Given the description of an element on the screen output the (x, y) to click on. 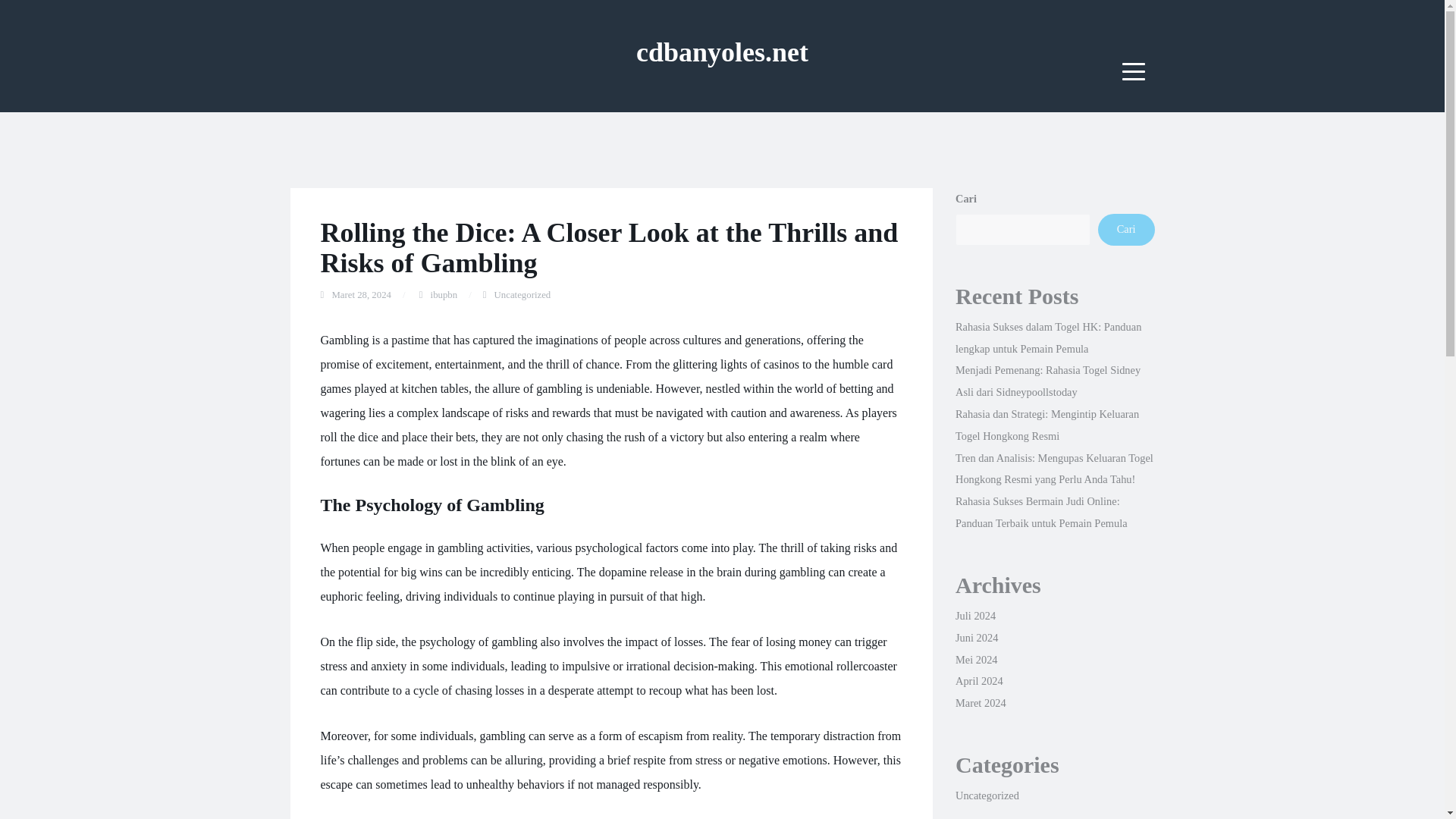
cdbanyoles.net (722, 51)
Maret 28, 2024 (361, 294)
Juni 2024 (976, 637)
April 2024 (979, 680)
Mei 2024 (976, 659)
Uncategorized (987, 795)
Menu (1133, 71)
ibupbn (444, 294)
Maret 2024 (980, 702)
Cari (1125, 229)
Juli 2024 (975, 615)
